Given the description of an element on the screen output the (x, y) to click on. 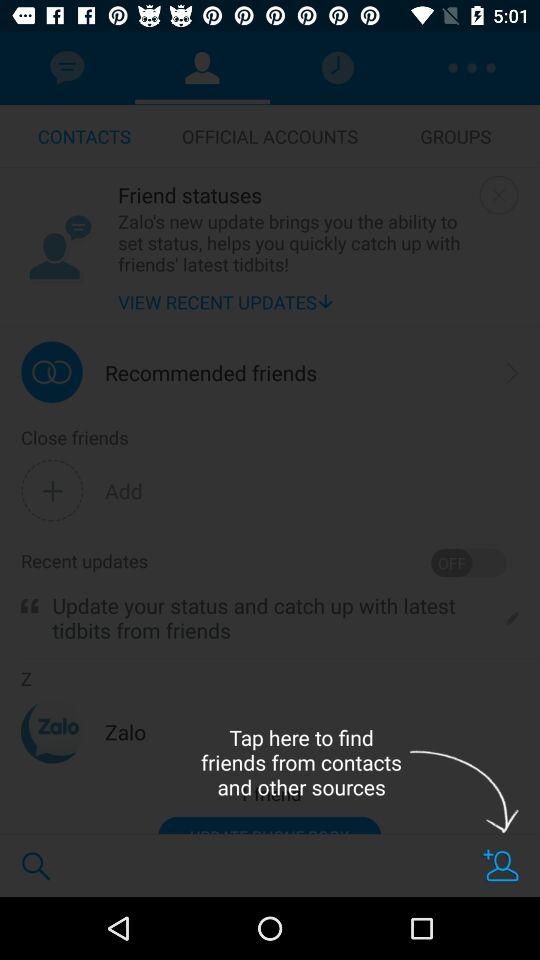
tap icon to the right of the recommended friends icon (513, 372)
